Given the description of an element on the screen output the (x, y) to click on. 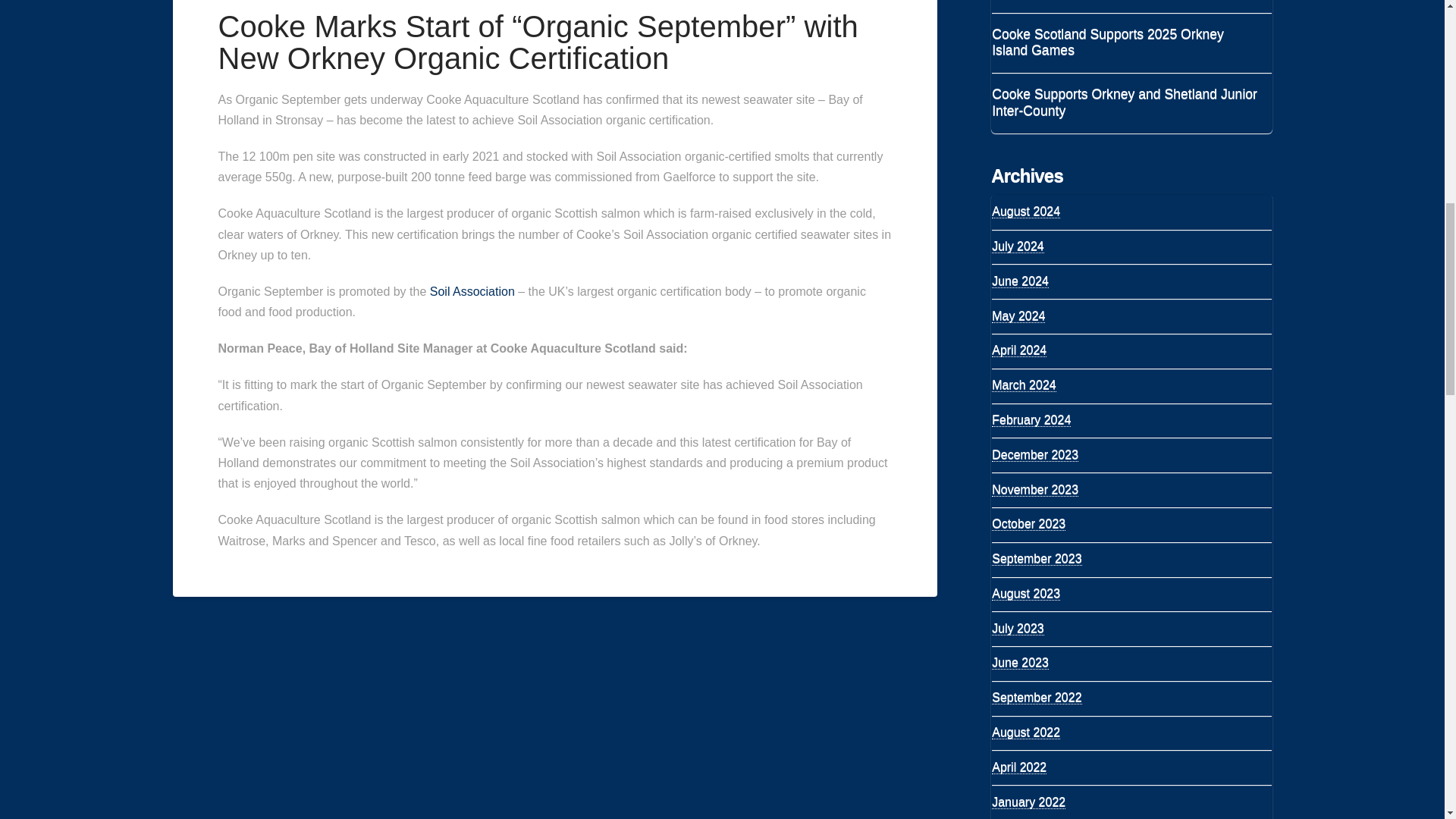
June 2024 (1019, 281)
Cooke Scotland Supports 2025 Orkney Island Games (1124, 42)
Cooke Supports Orkney and Shetland Junior Inter-County (1124, 101)
August 2024 (1025, 211)
Soil Association (472, 291)
July 2024 (1017, 246)
May 2024 (1018, 315)
